Given the description of an element on the screen output the (x, y) to click on. 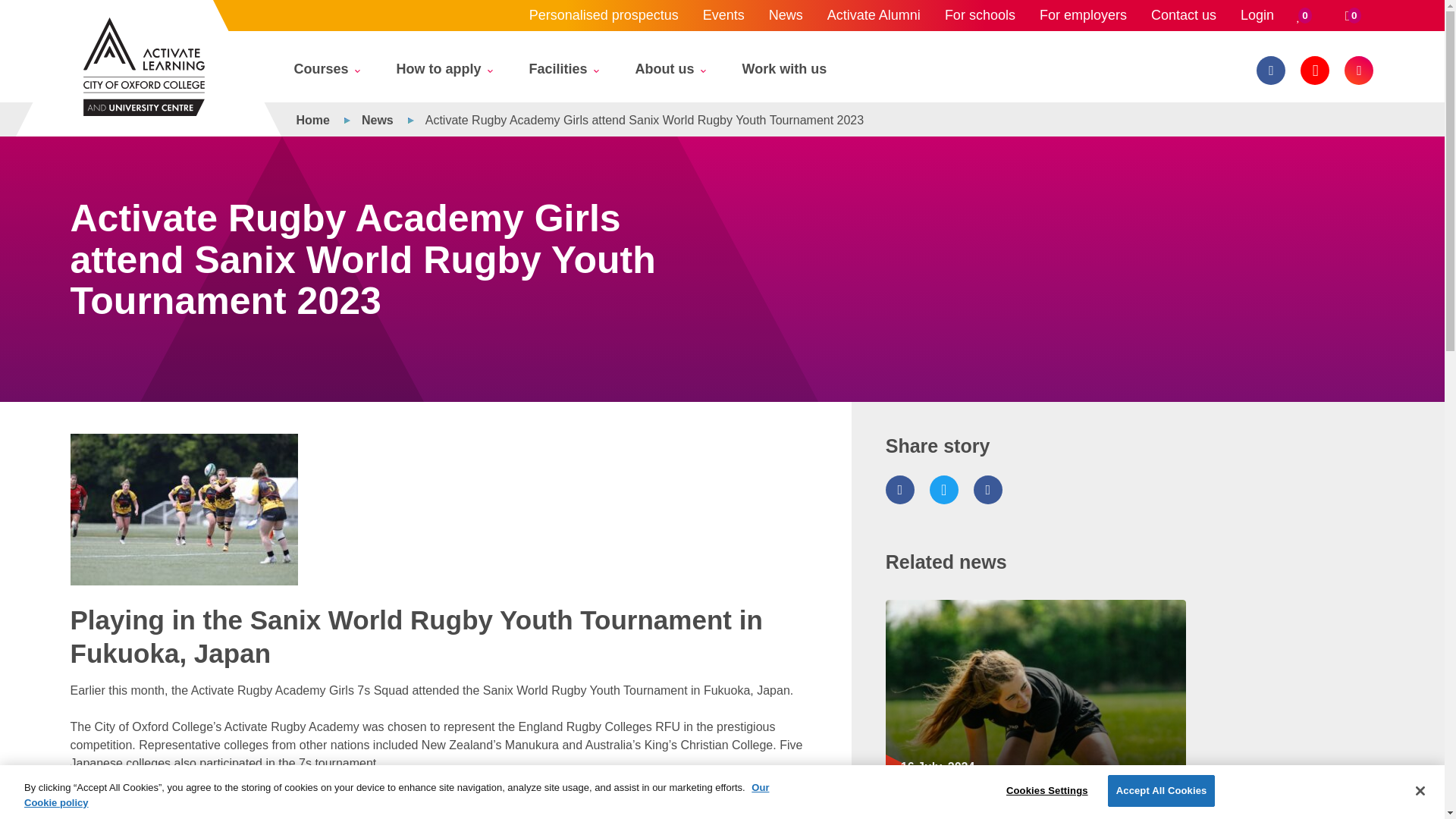
Contact us (1183, 15)
Activate Alumni (873, 15)
For employers (1083, 15)
City of Oxford College (143, 66)
Courses (325, 72)
Login (1257, 15)
Events (723, 15)
0 (1353, 15)
For schools (980, 15)
0 (1303, 15)
How to apply (443, 72)
News (785, 15)
Personalised prospectus (603, 15)
